Given the description of an element on the screen output the (x, y) to click on. 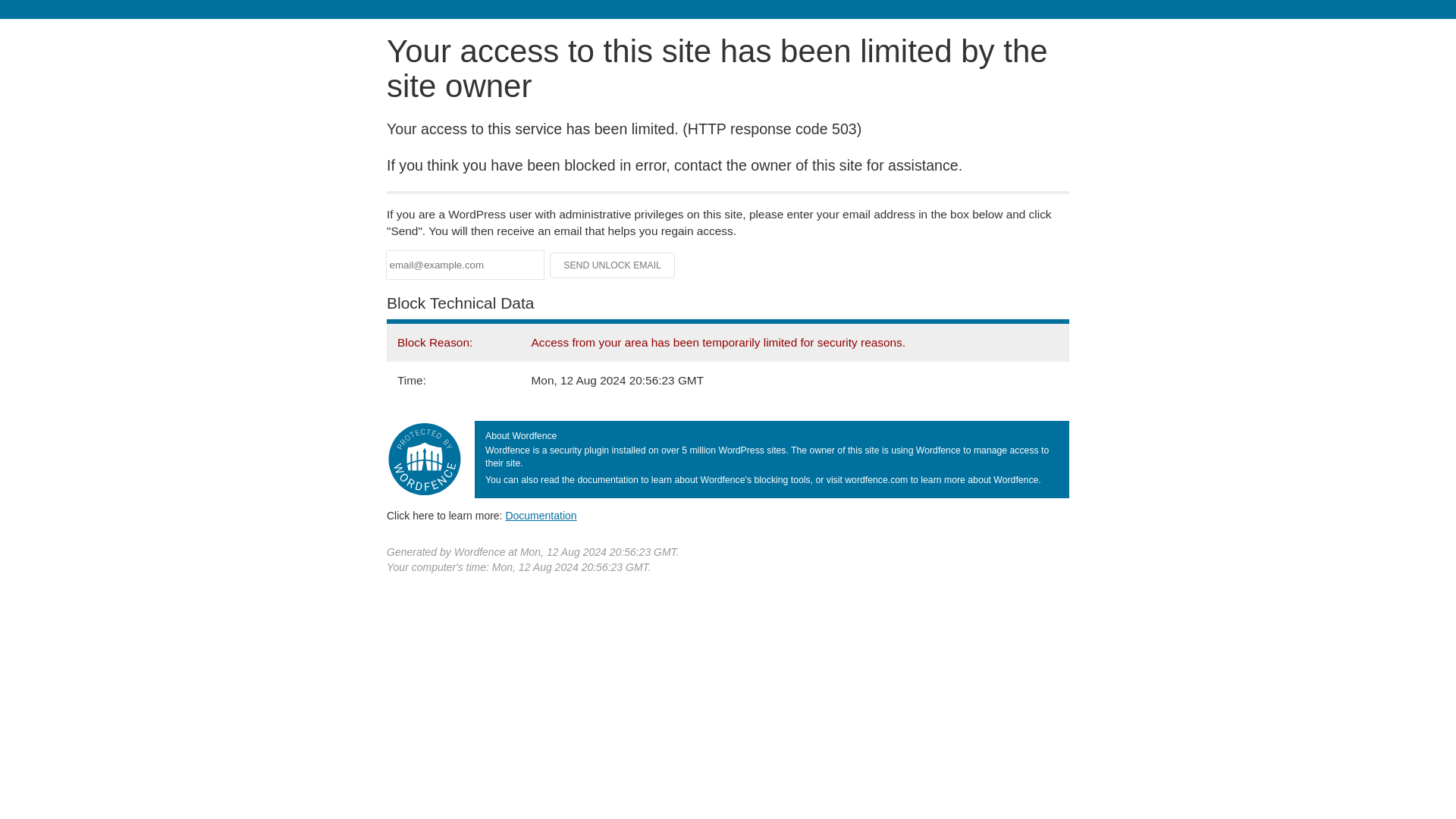
Documentation (540, 515)
Send Unlock Email (612, 265)
Send Unlock Email (612, 265)
